Given the description of an element on the screen output the (x, y) to click on. 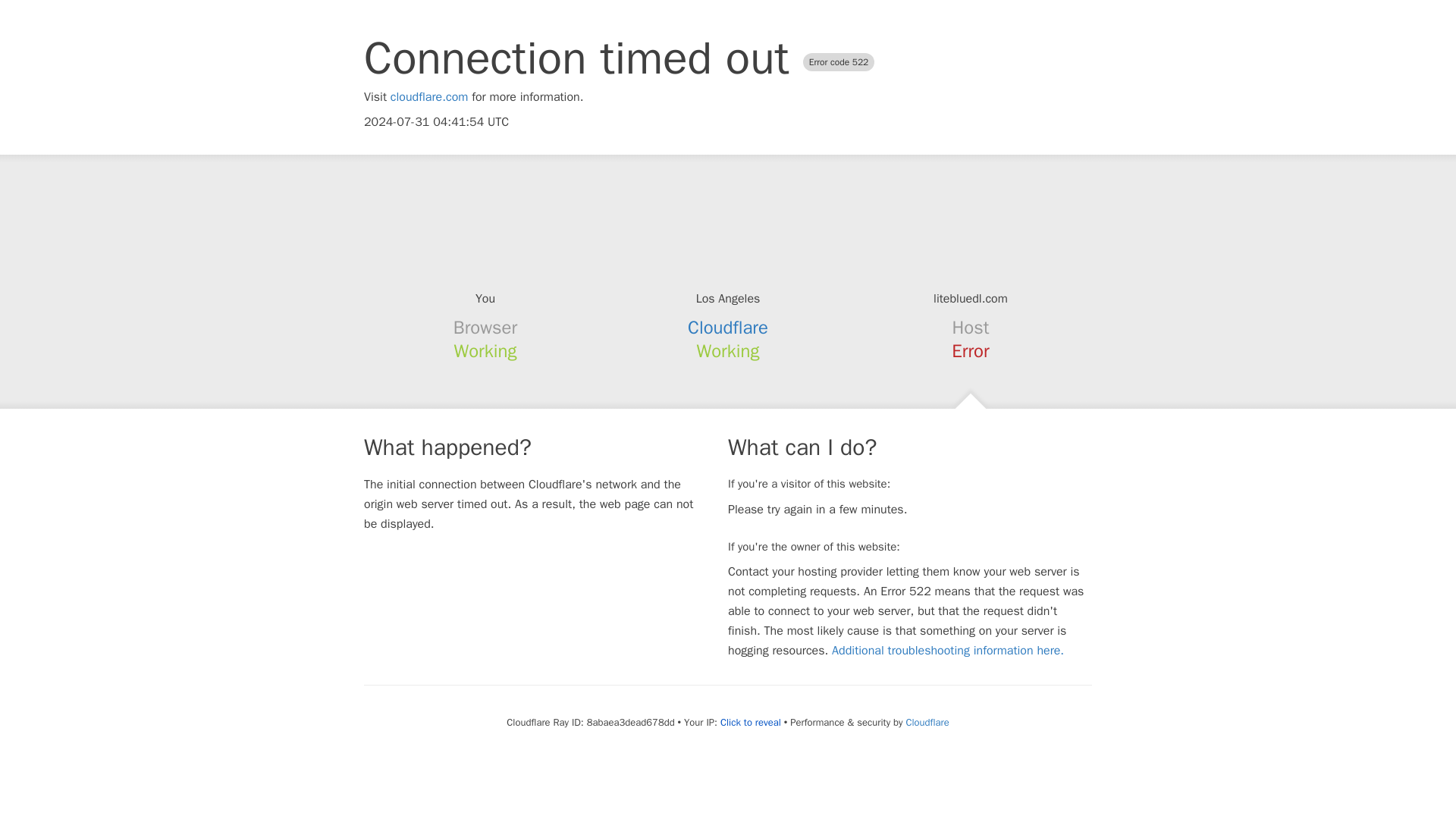
Cloudflare (727, 327)
Additional troubleshooting information here. (947, 650)
cloudflare.com (429, 96)
Click to reveal (750, 722)
Cloudflare (927, 721)
